Given the description of an element on the screen output the (x, y) to click on. 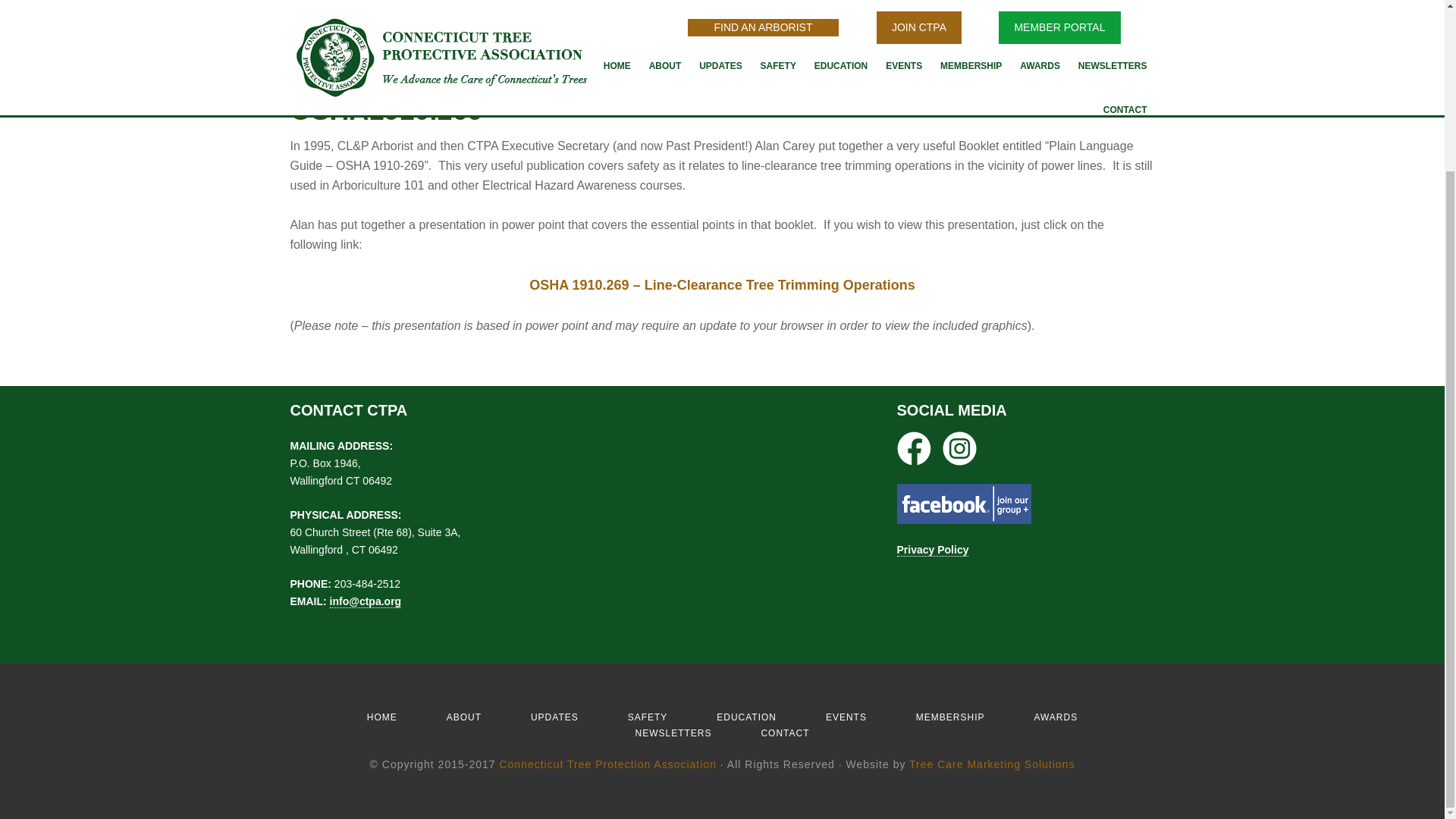
AWARDS (1055, 716)
Education (746, 716)
SAFETY (647, 716)
ABOUT (463, 716)
UPDATES (554, 716)
EDUCATION (746, 716)
Contact CTPA (784, 733)
Connecticut Tree Protection Association (607, 764)
CONTACT (784, 733)
CTPA Updates (554, 716)
About CTPA (463, 716)
EVENTS (845, 716)
Arborist Safety in Connecticut (647, 716)
Tree Care Marketing Solutions (991, 764)
Privacy Policy (932, 549)
